Given the description of an element on the screen output the (x, y) to click on. 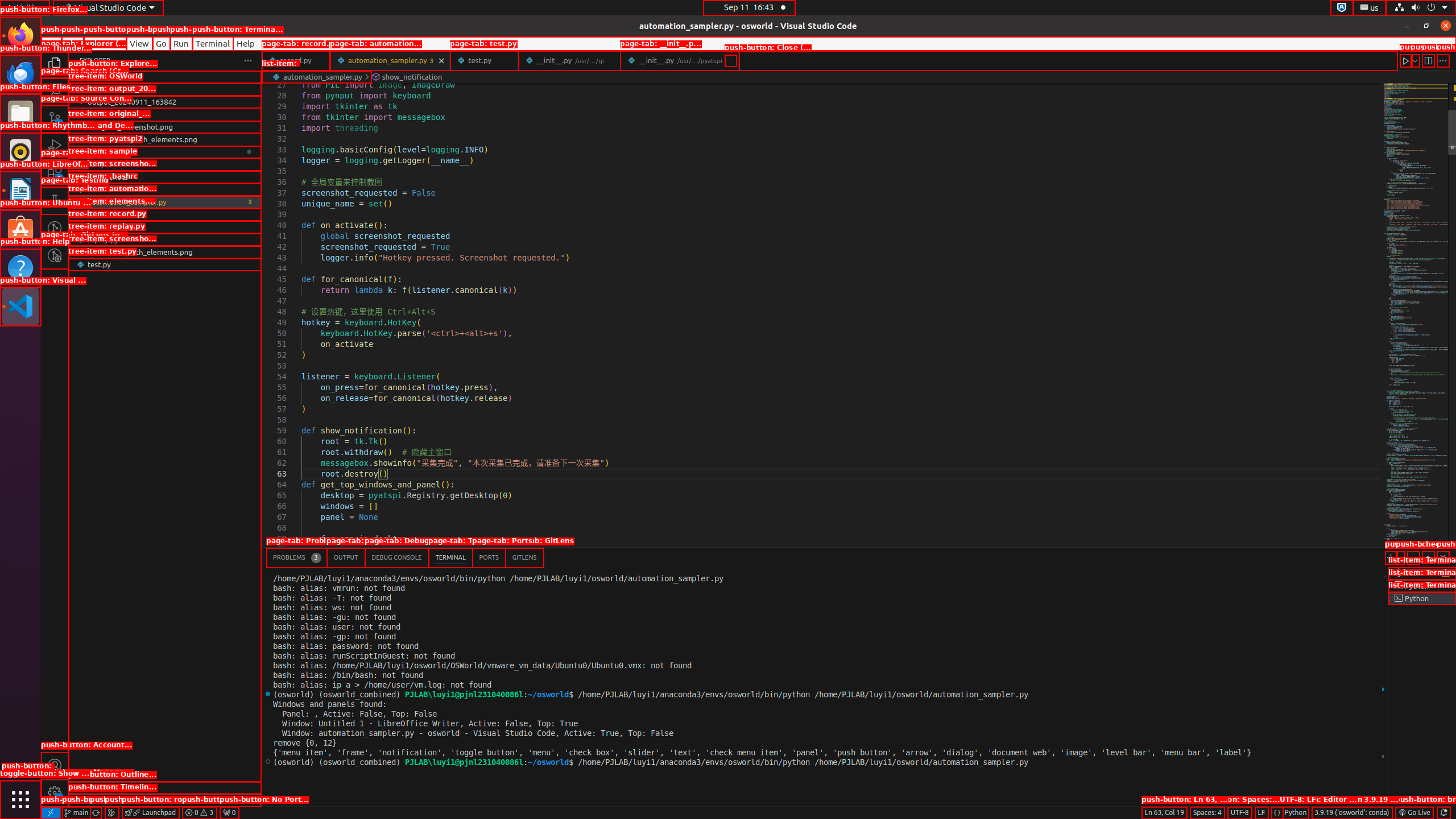
__init__.py Element type: page-tab (679, 60)
Go Element type: push-button (161, 43)
OSWorld (Git) - Synchronize Changes Element type: push-button (95, 812)
remote Element type: push-button (50, 812)
UTF-8 Element type: push-button (1239, 812)
